Given the description of an element on the screen output the (x, y) to click on. 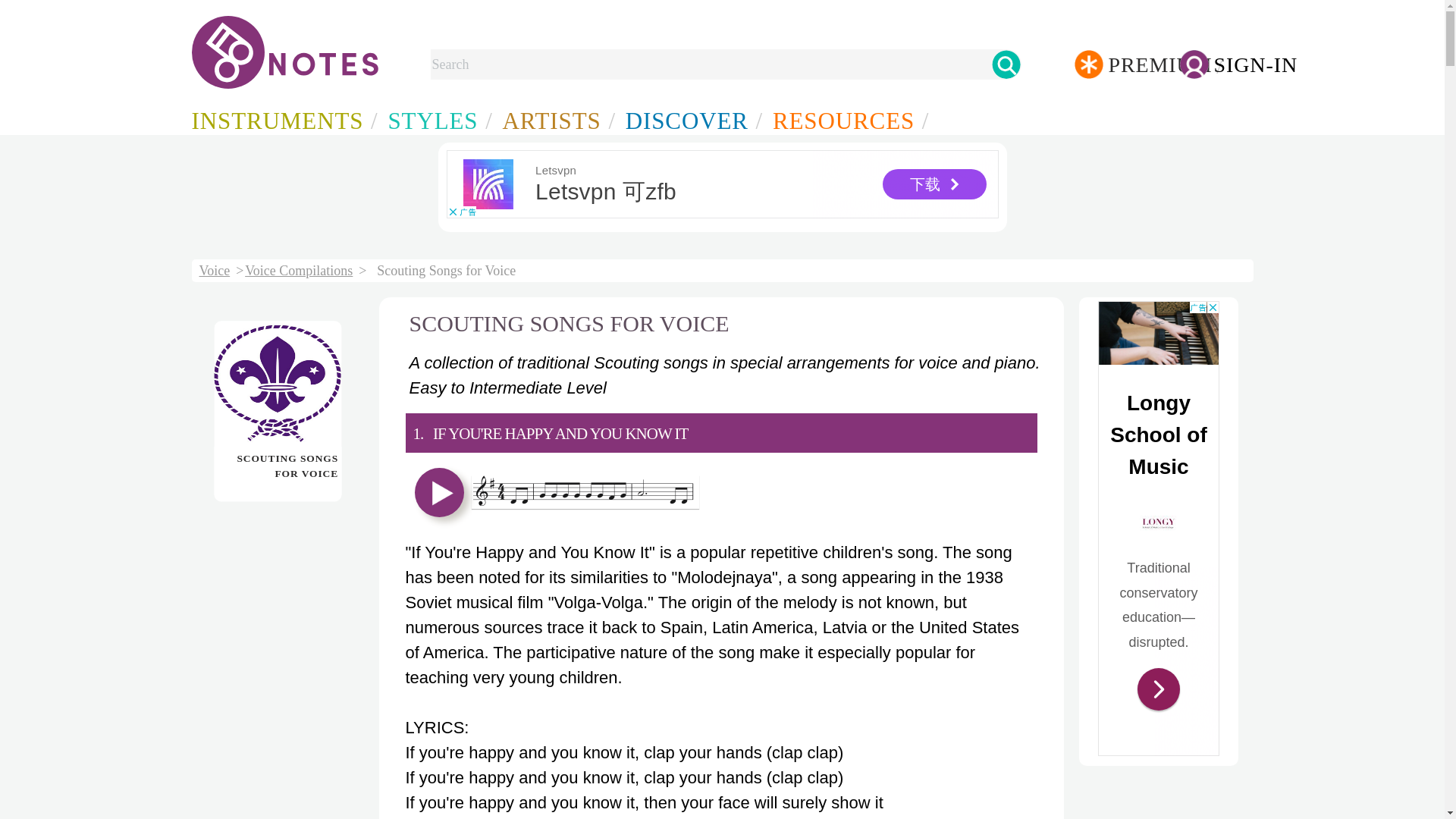
ARTISTS (556, 119)
artists (556, 119)
styles (436, 119)
artists (691, 119)
STYLES (436, 119)
instruments (281, 119)
Advertisement (1158, 528)
INSTRUMENTS (281, 119)
PREMIUM (1126, 68)
DISCOVER (691, 119)
Advertisement (721, 183)
RESOURCES (848, 119)
